Given the description of an element on the screen output the (x, y) to click on. 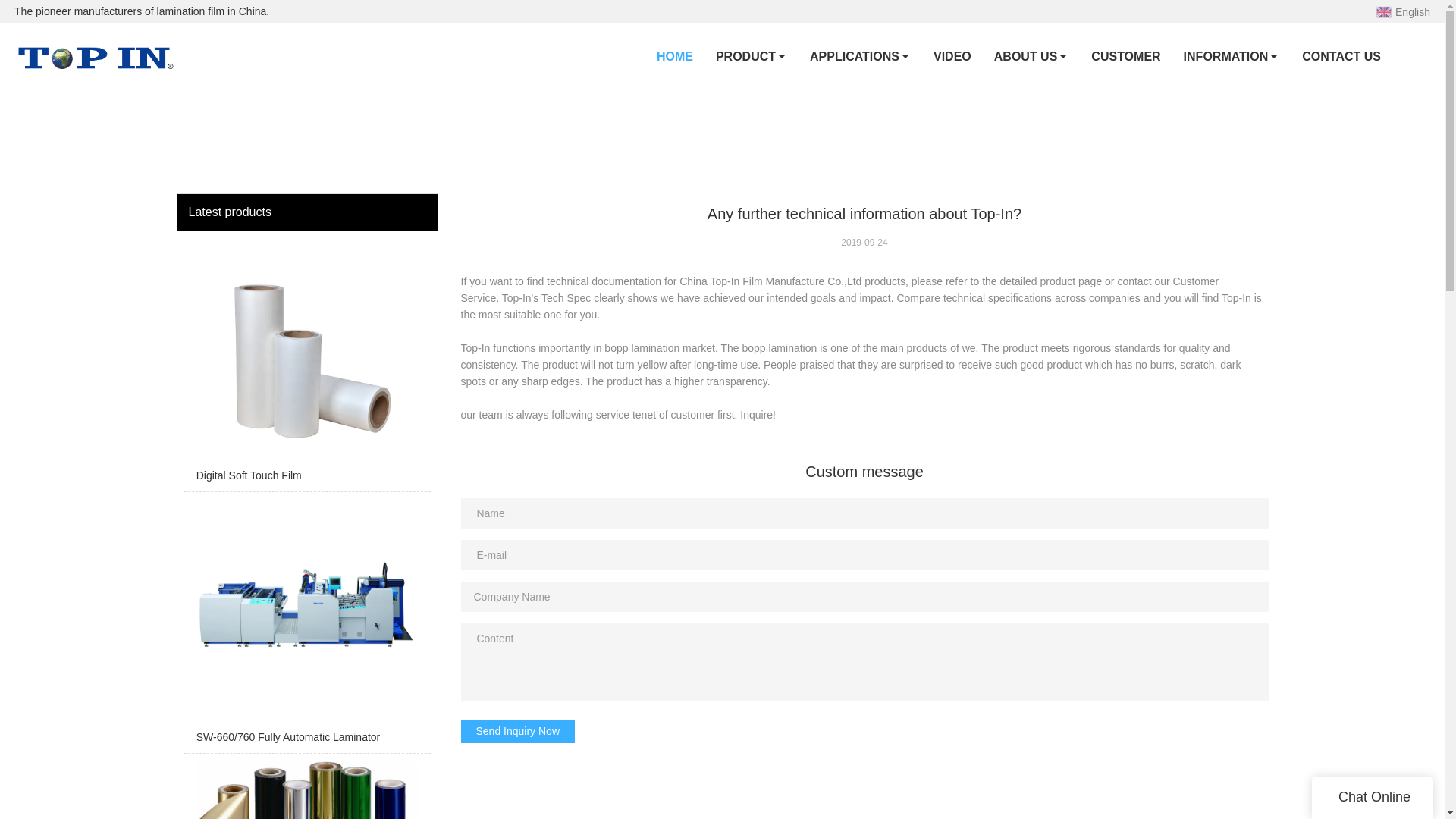
ABOUT US (1031, 56)
PRODUCT (750, 56)
CUSTOMER (1126, 56)
APPLICATIONS (859, 56)
VIDEO (951, 56)
